Given the description of an element on the screen output the (x, y) to click on. 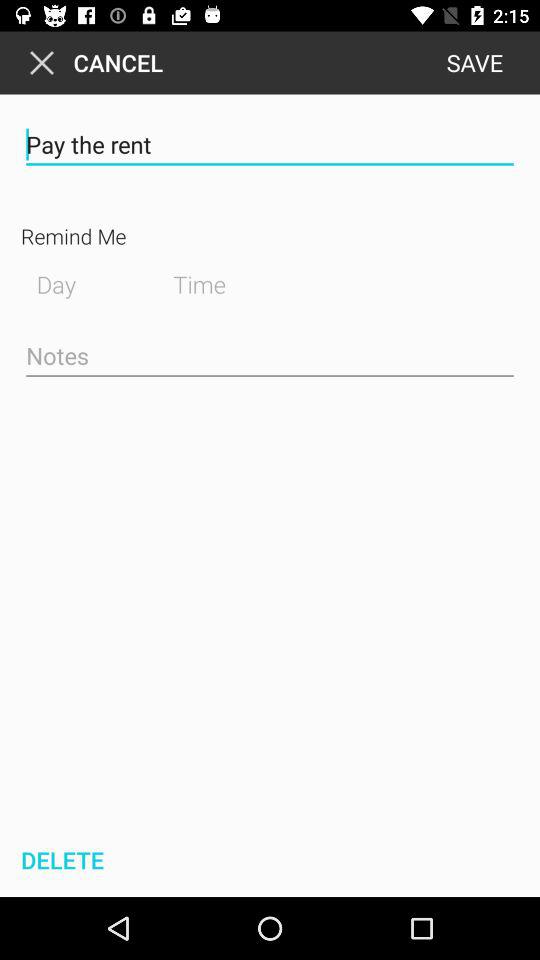
flip to the pay the rent item (270, 144)
